Given the description of an element on the screen output the (x, y) to click on. 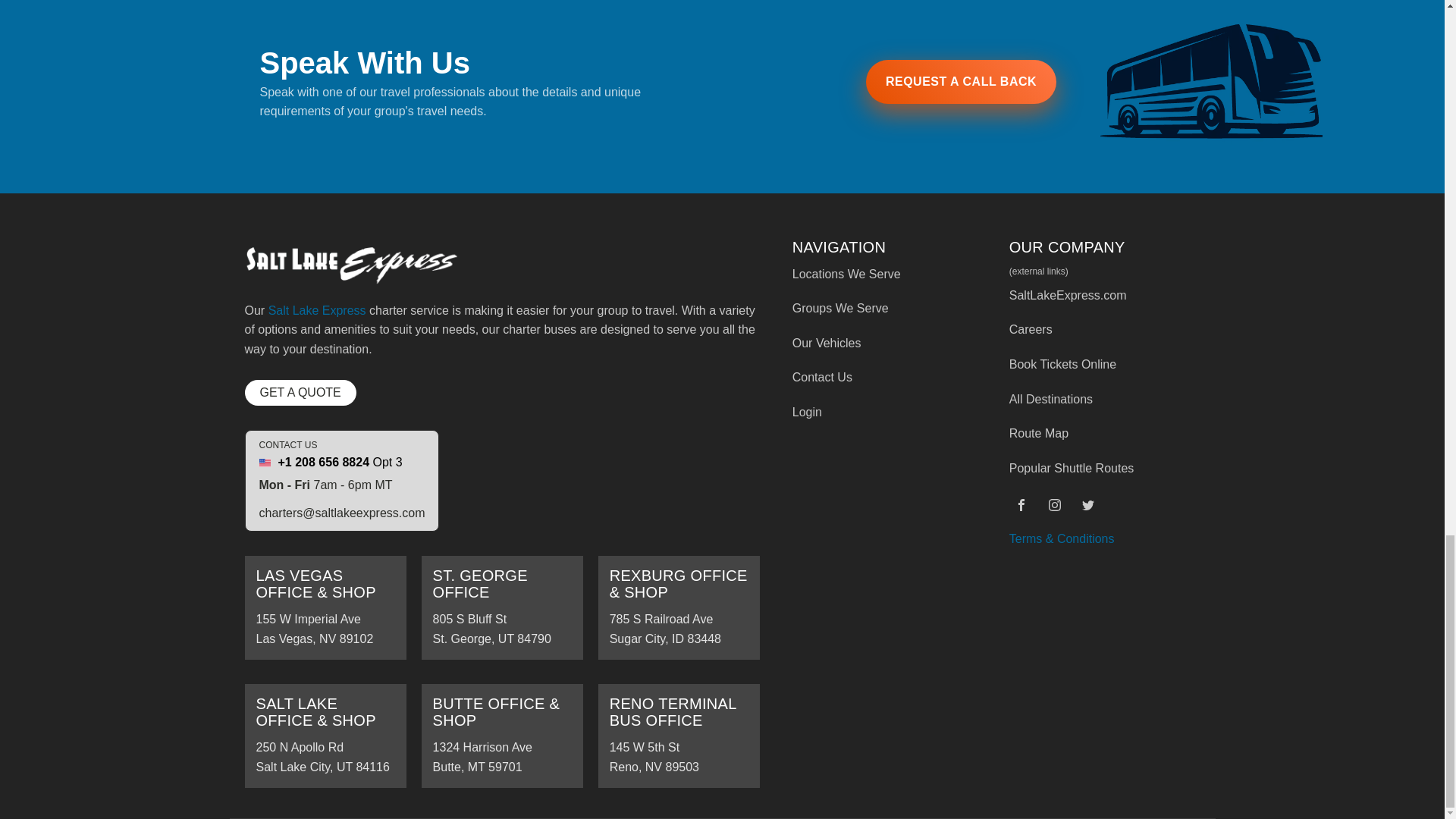
SaltLakeExpress.com (1071, 303)
Book Tickets Online (1071, 371)
REQUEST A CALL BACK (960, 81)
Login (846, 419)
Locations We Serve (846, 281)
GET A QUOTE (299, 392)
Salt Lake Express (316, 309)
Groups We Serve (846, 315)
Our Vehicles (502, 608)
